Given the description of an element on the screen output the (x, y) to click on. 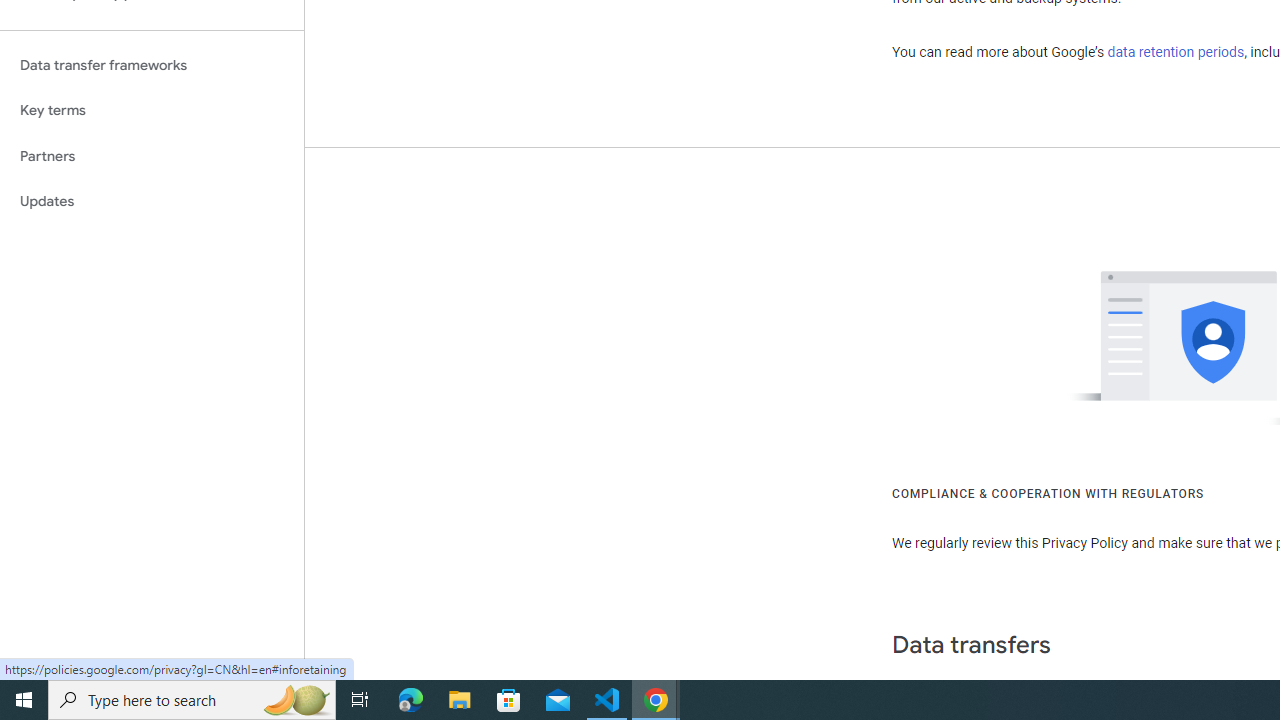
data retention periods (1176, 52)
